Given the description of an element on the screen output the (x, y) to click on. 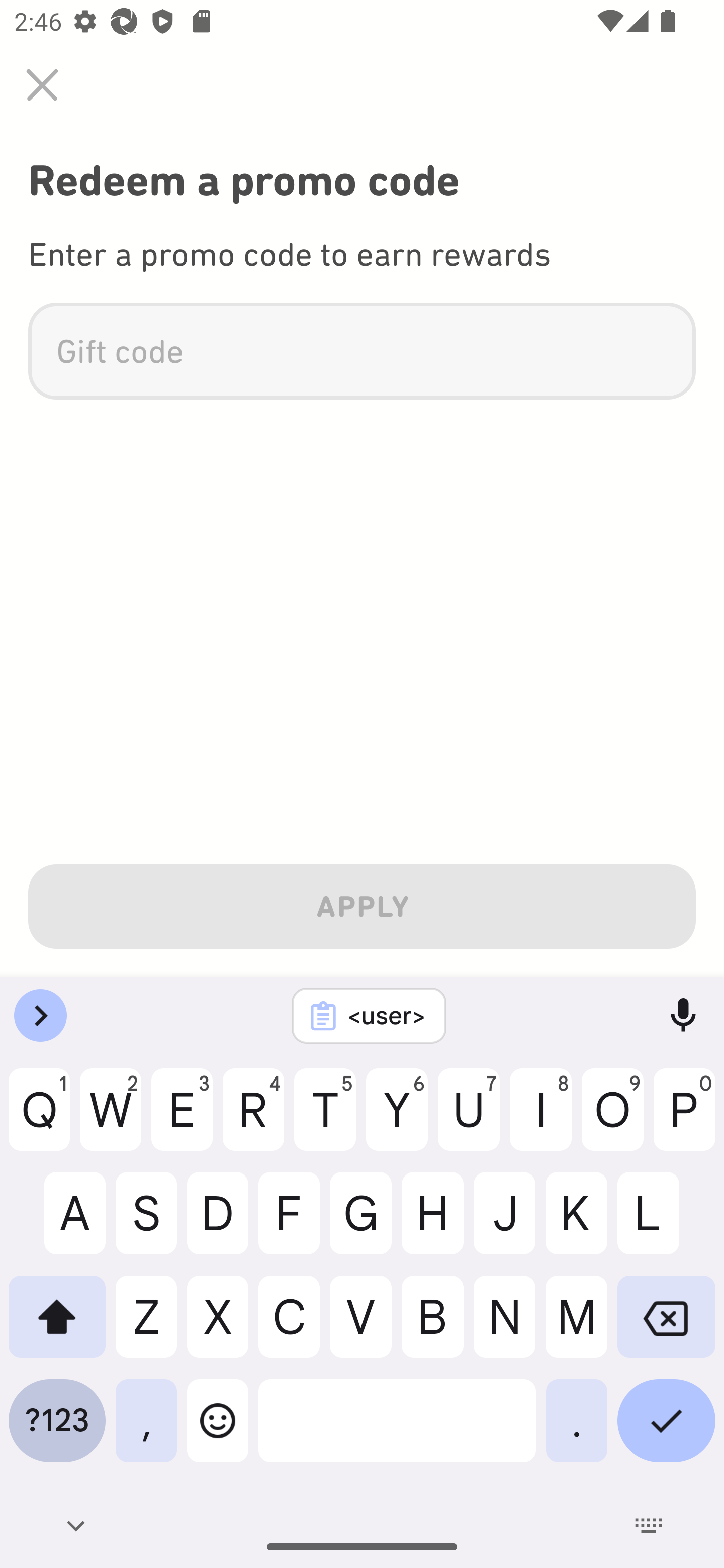
Close Page (41, 84)
Gift code (361, 350)
APPLY (361, 902)
